Given the description of an element on the screen output the (x, y) to click on. 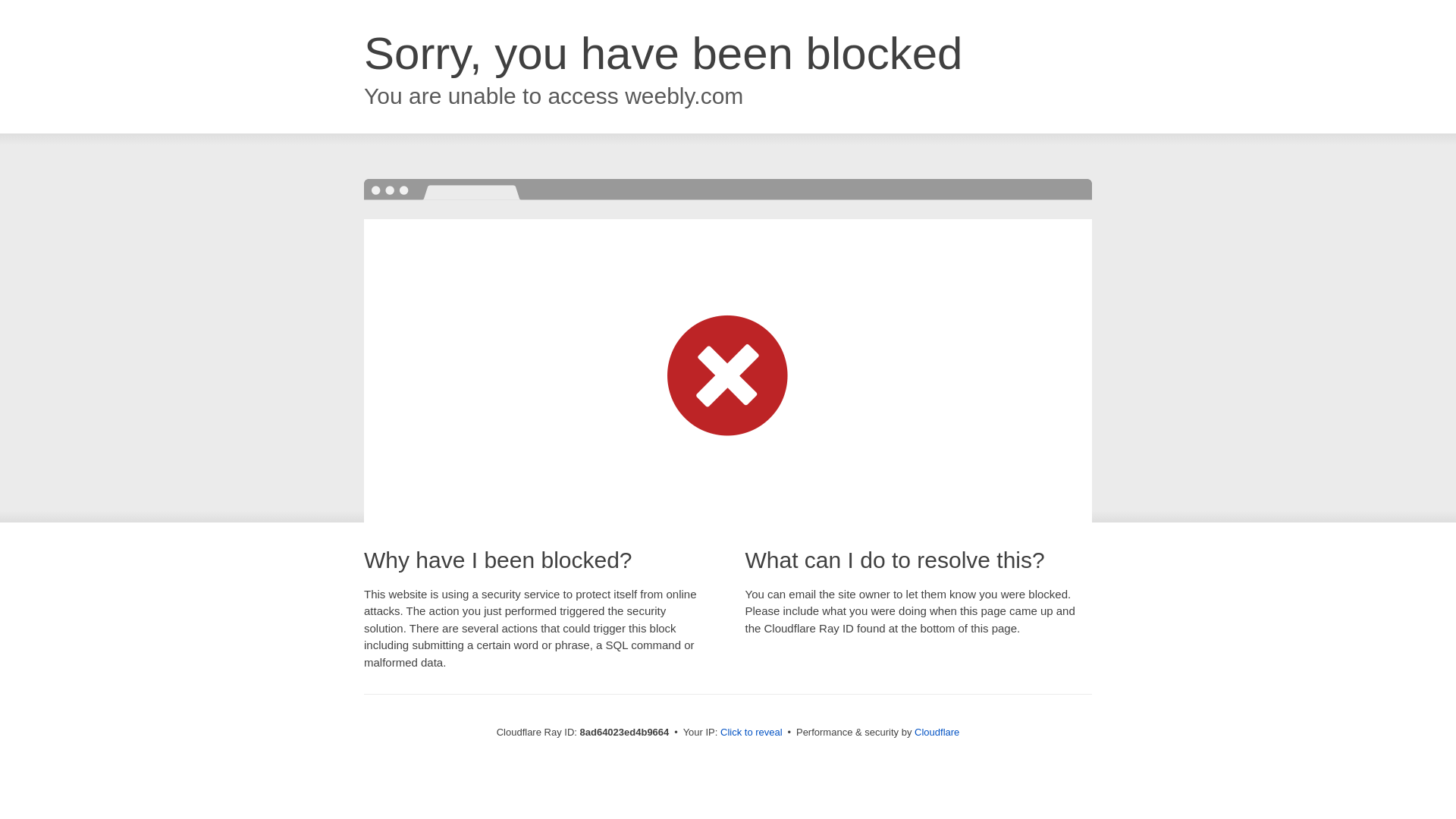
Click to reveal (751, 732)
Cloudflare (936, 731)
